Given the description of an element on the screen output the (x, y) to click on. 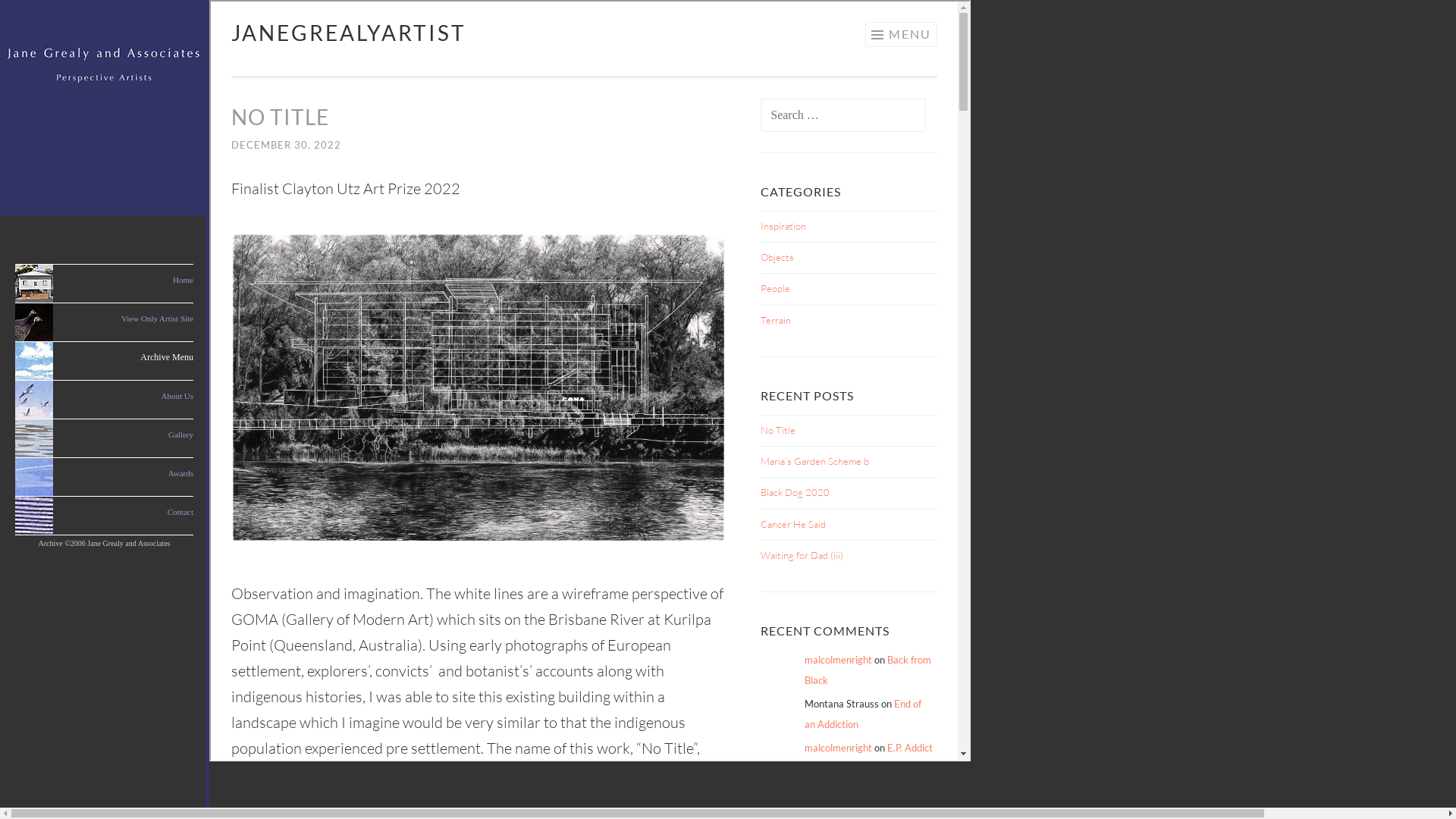
Gallery Element type: text (180, 434)
About Us Element type: text (177, 395)
Home Element type: text (182, 279)
View Only Artist Site Element type: text (157, 318)
Awards Element type: text (180, 472)
Contact Element type: text (180, 511)
